Given the description of an element on the screen output the (x, y) to click on. 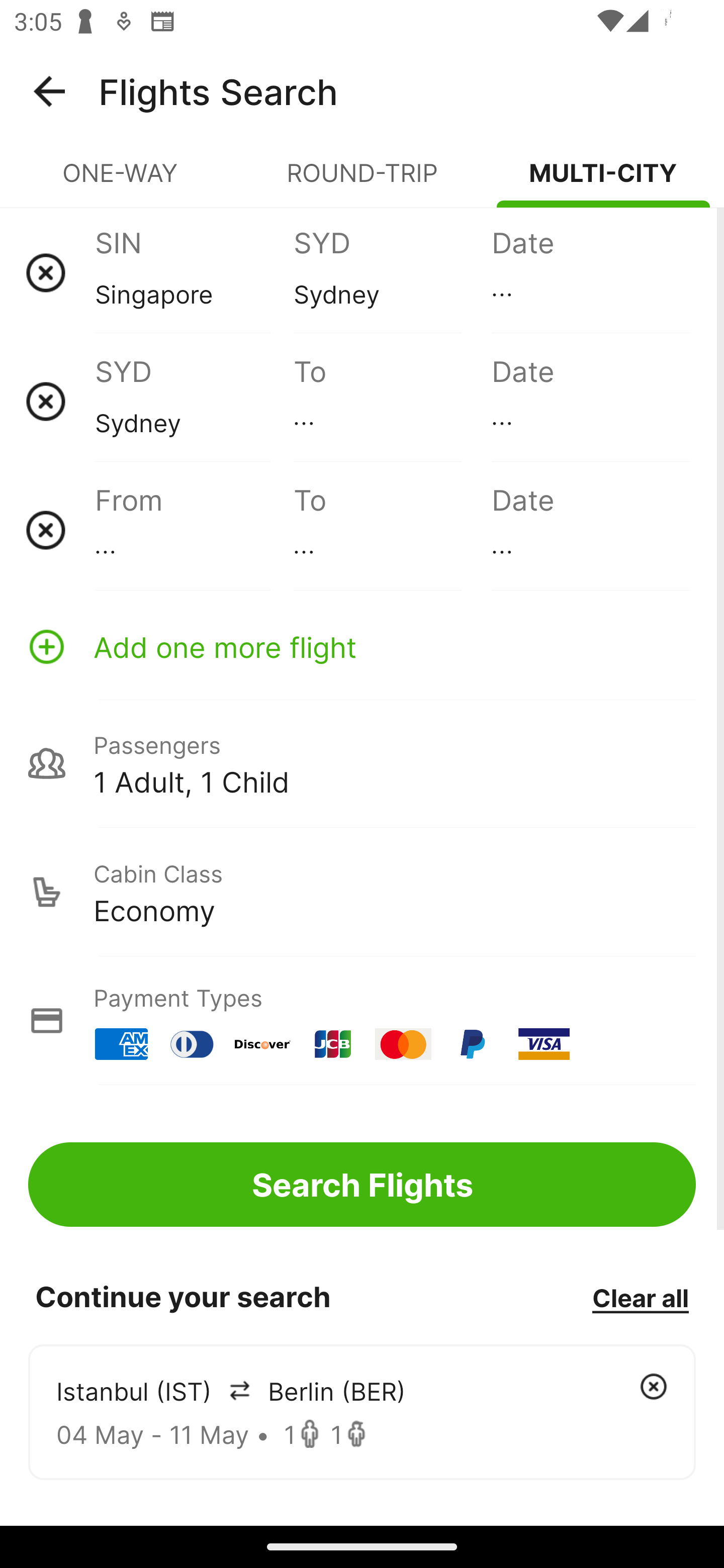
ONE-WAY (120, 180)
ROUND-TRIP (361, 180)
MULTI-CITY (603, 180)
SIN Singapore (193, 272)
SYD Sydney (392, 272)
Date ⋯ (590, 272)
SYD Sydney (193, 401)
To ⋯ (392, 401)
Date ⋯ (590, 401)
From ⋯ (193, 529)
To ⋯ (392, 529)
Date ⋯ (590, 529)
Add one more flight (362, 646)
Passengers 1 Adult, 1 Child (362, 762)
Cabin Class Economy (362, 891)
Payment Types (362, 1020)
Search Flights (361, 1184)
Clear all (640, 1297)
